Given the description of an element on the screen output the (x, y) to click on. 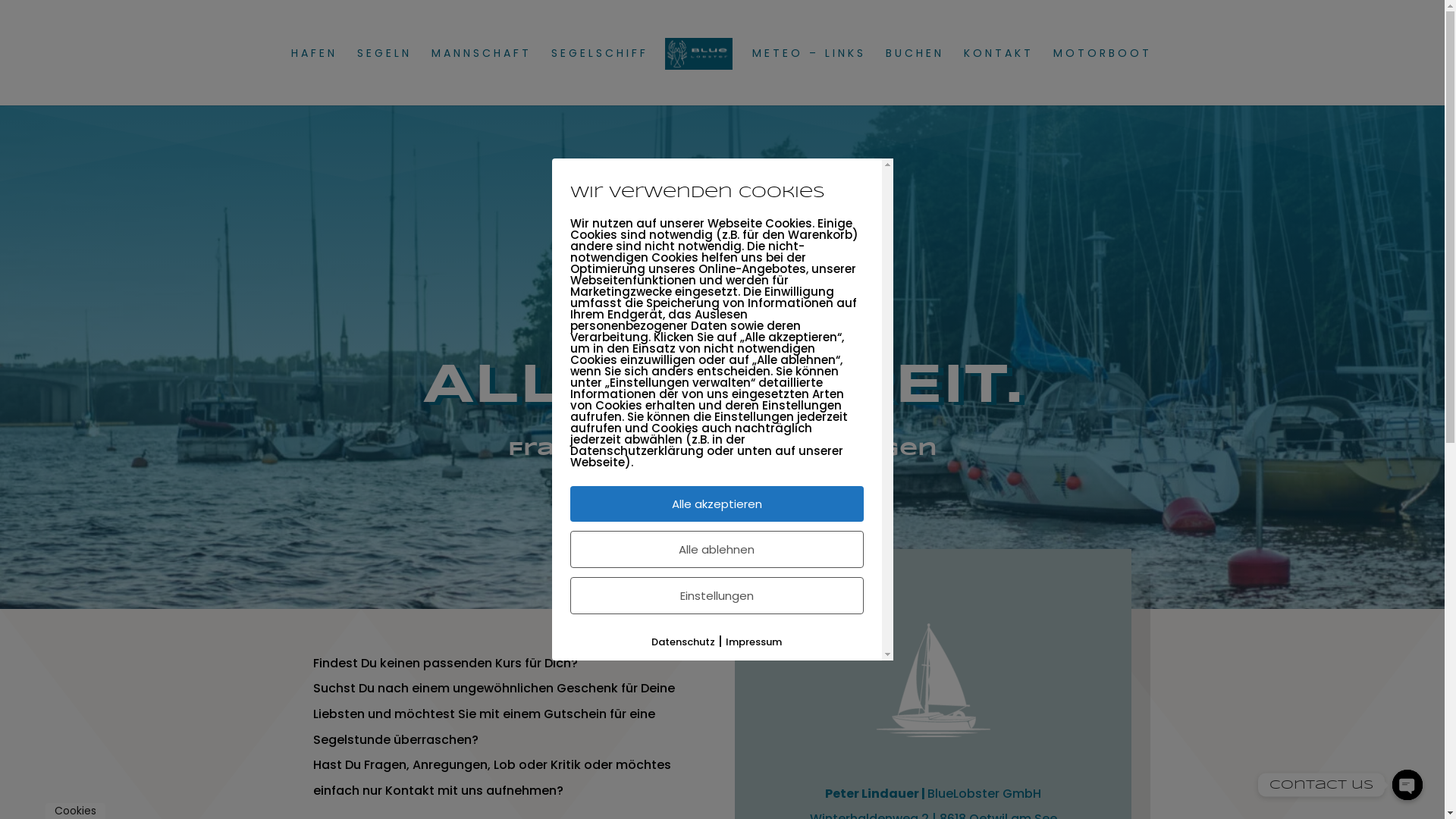
Alle ablehnen Element type: text (716, 548)
Alle akzeptieren Element type: text (716, 503)
Impressum Element type: text (753, 641)
Datenschutz Element type: text (683, 641)
HAFEN Element type: text (314, 76)
MANNSCHAFT Element type: text (481, 76)
Einstellungen Element type: text (716, 595)
SEGELN Element type: text (384, 76)
SEGELSCHIFF Element type: text (599, 76)
BUCHEN Element type: text (914, 76)
MOTORBOOT Element type: text (1102, 76)
KONTAKT Element type: text (998, 76)
